Given the description of an element on the screen output the (x, y) to click on. 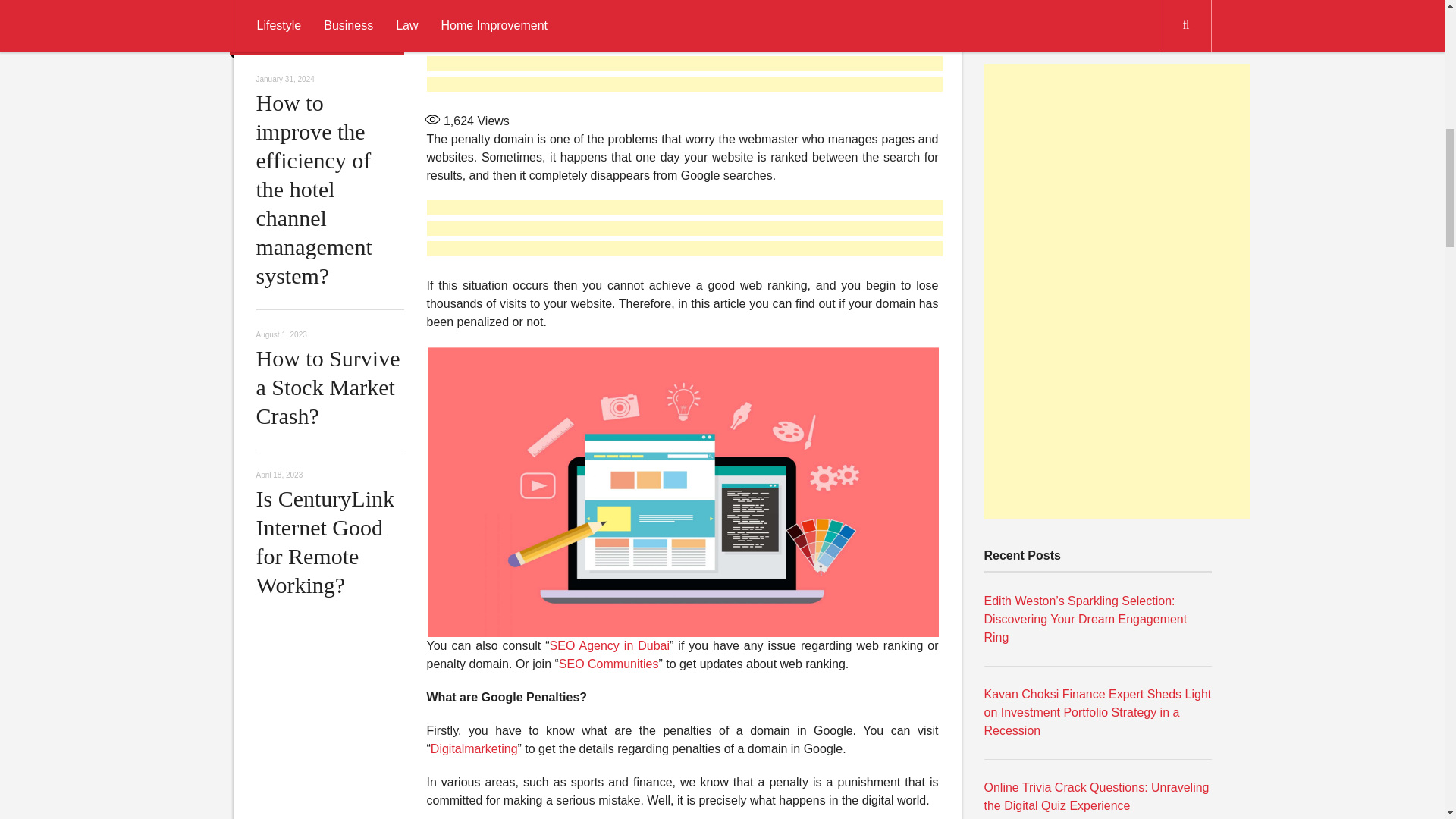
How to Know If your Domain has been Penalized by Google? (597, 8)
SEO Communities (609, 663)
Permalink to How to Survive a Stock Market Crash? (328, 386)
SEO Agency in Dubai (609, 645)
Digitalmarketing (474, 748)
How to Survive a Stock Market Crash? (328, 386)
Is CenturyLink Internet Good for Remote Working? (325, 541)
